Given the description of an element on the screen output the (x, y) to click on. 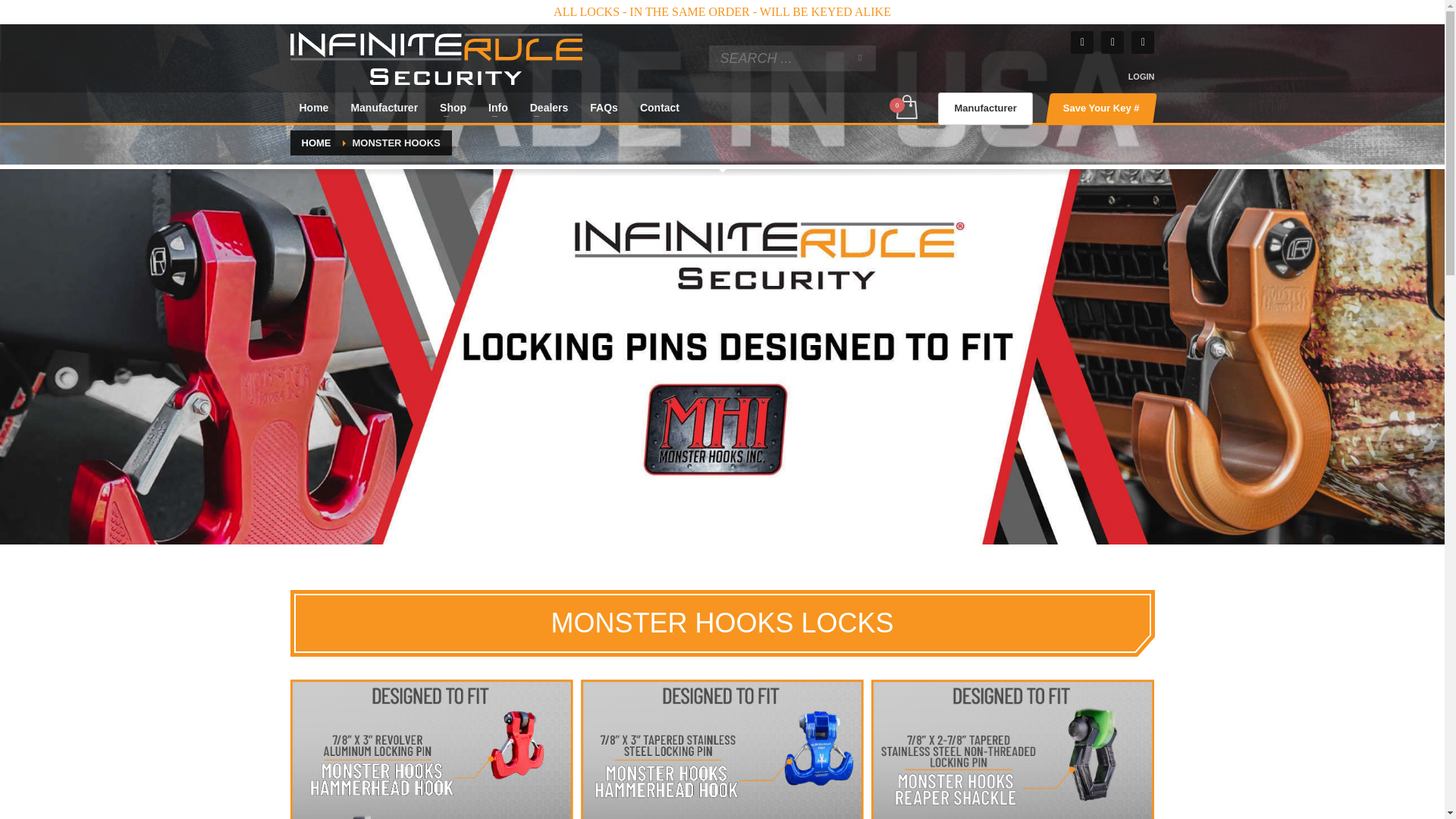
Home (313, 107)
Dealers (549, 107)
Facebook (1081, 42)
LOGIN (1141, 76)
Shop (453, 107)
go (860, 57)
Youtube (1142, 42)
Manufacturer (383, 107)
Contact (659, 107)
Info (497, 107)
View your shopping cart (905, 108)
FAQs (603, 107)
Instagram (1112, 42)
